Given the description of an element on the screen output the (x, y) to click on. 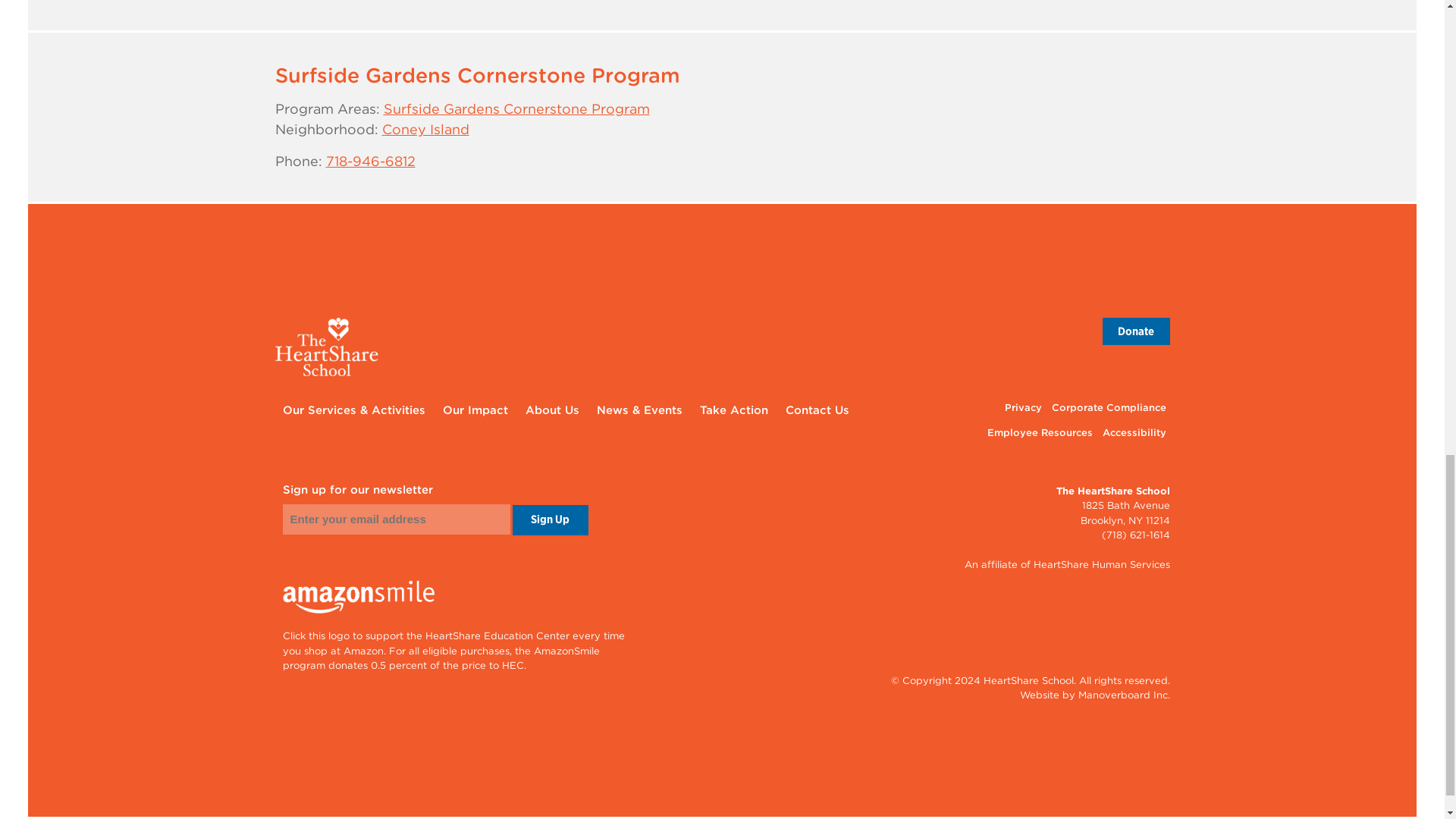
back to home page (722, 346)
Call this service location (370, 160)
Make a donation to HeartShare (1136, 330)
Sign Up (550, 520)
